Given the description of an element on the screen output the (x, y) to click on. 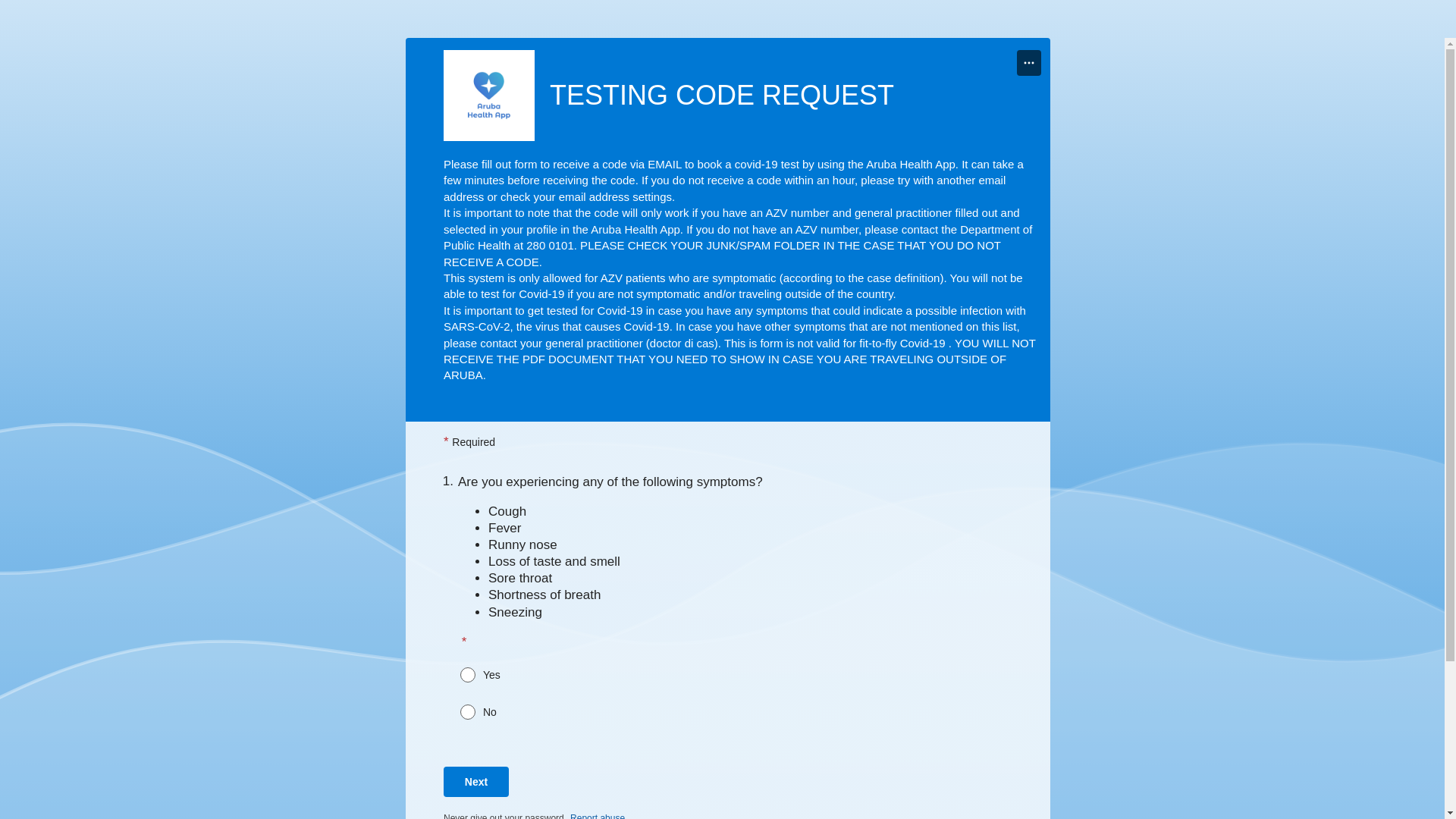
Next Element type: text (475, 781)
